Given the description of an element on the screen output the (x, y) to click on. 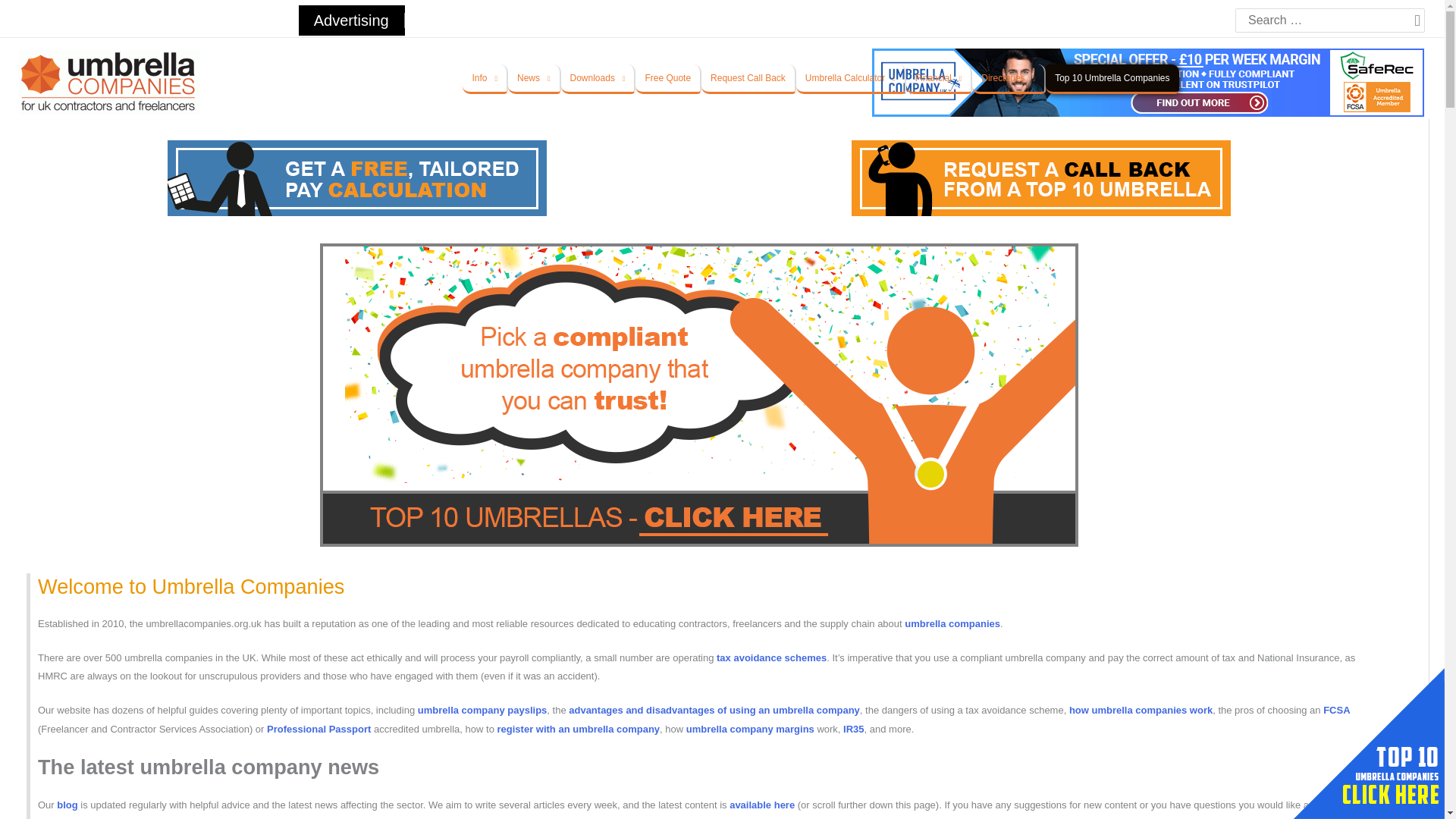
Forum (55, 20)
About (176, 20)
Home (119, 20)
Get Involved (251, 20)
Info (485, 79)
Advertising (342, 21)
Newsletter (428, 20)
